Given the description of an element on the screen output the (x, y) to click on. 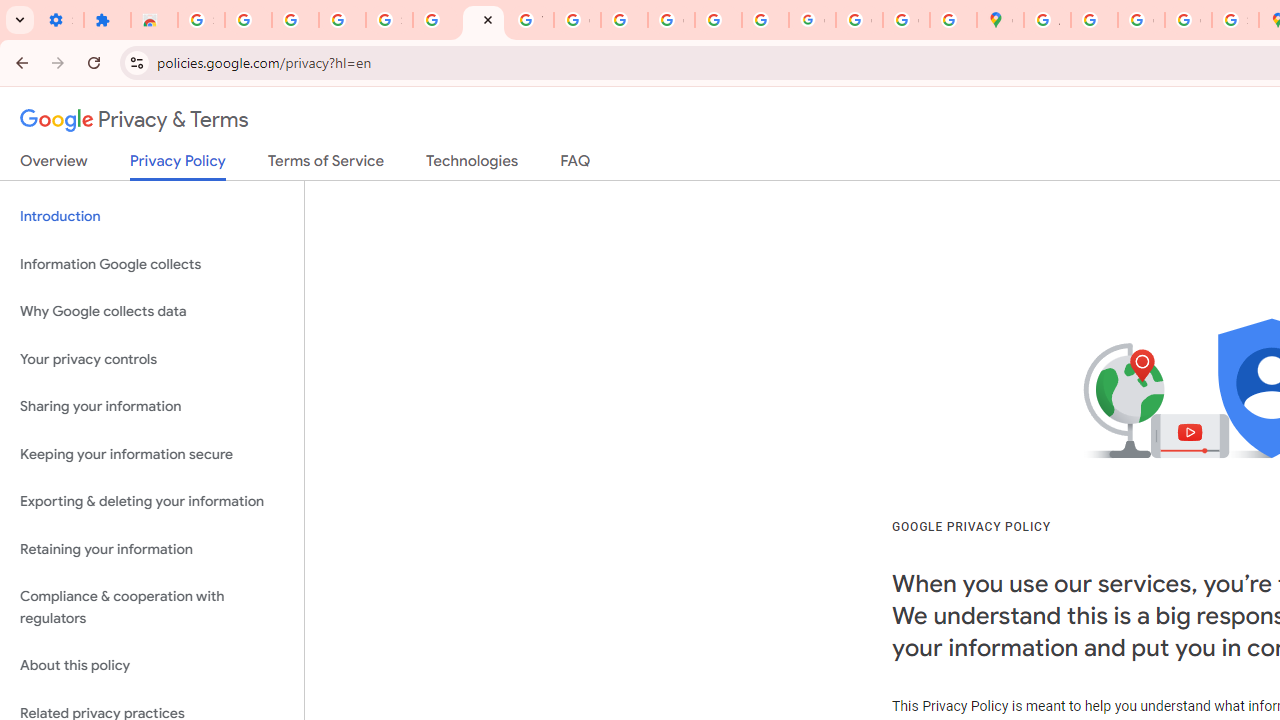
Delete photos & videos - Computer - Google Photos Help (248, 20)
Your privacy controls (152, 358)
YouTube (530, 20)
